Given the description of an element on the screen output the (x, y) to click on. 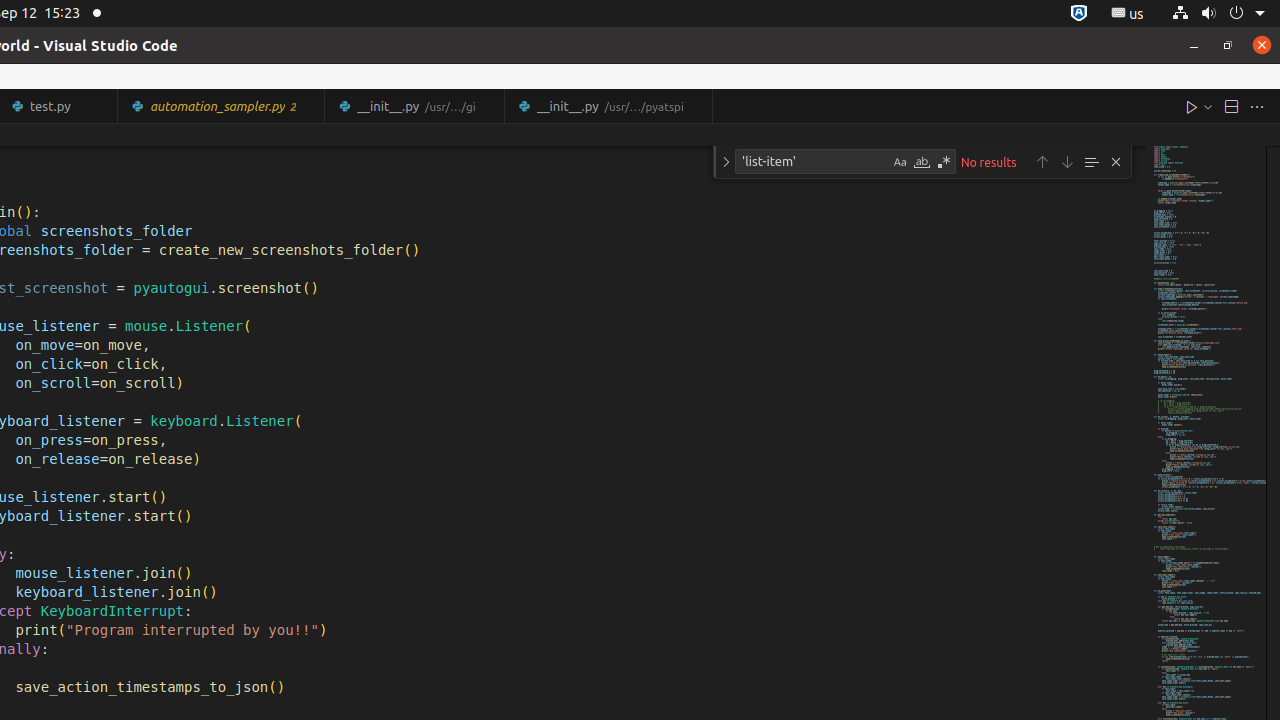
Split Editor Down Element type: push-button (1231, 106)
Toggle Replace Element type: push-button (726, 162)
